Given the description of an element on the screen output the (x, y) to click on. 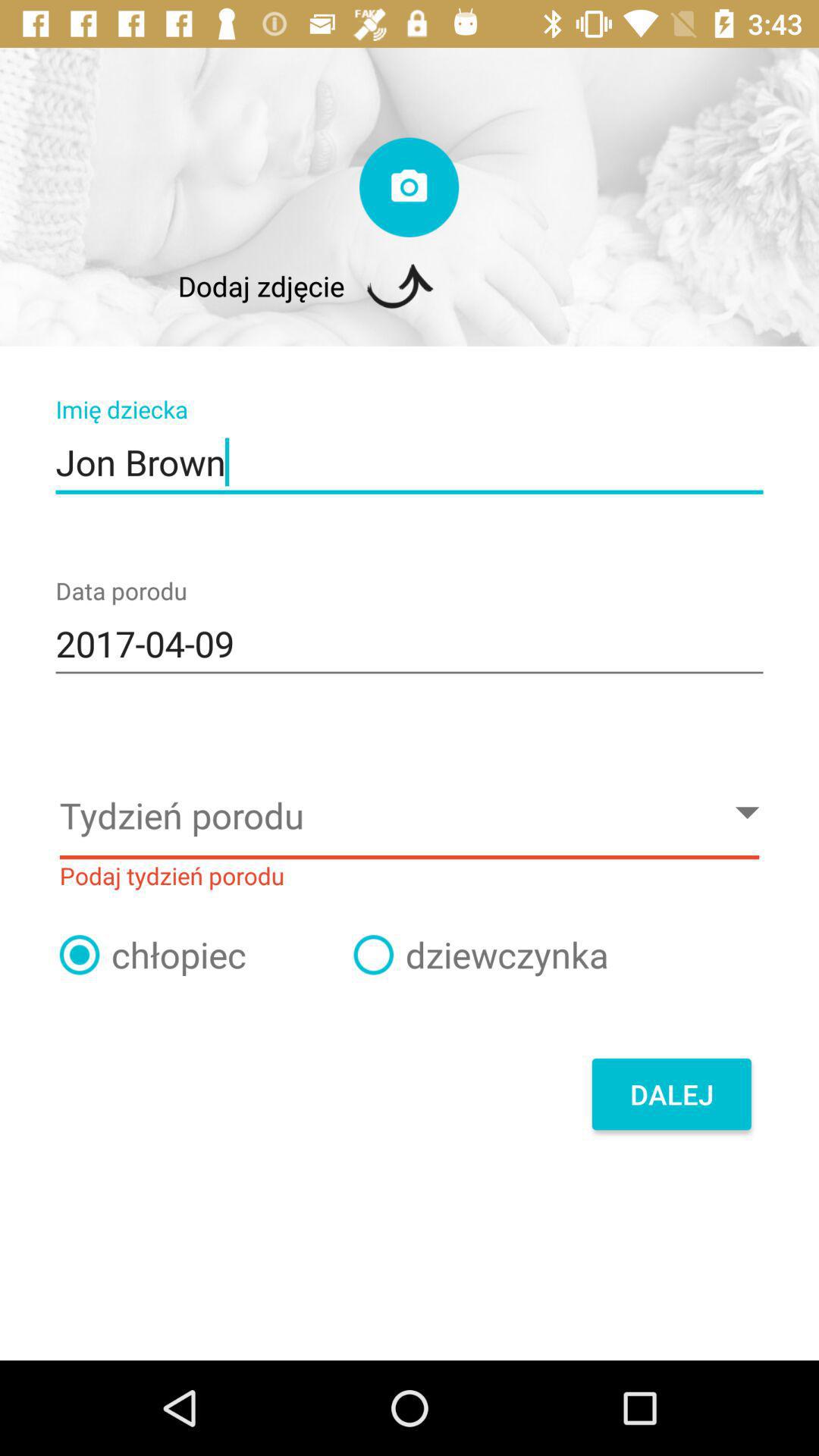
chlopiec radio button (79, 954)
